Given the description of an element on the screen output the (x, y) to click on. 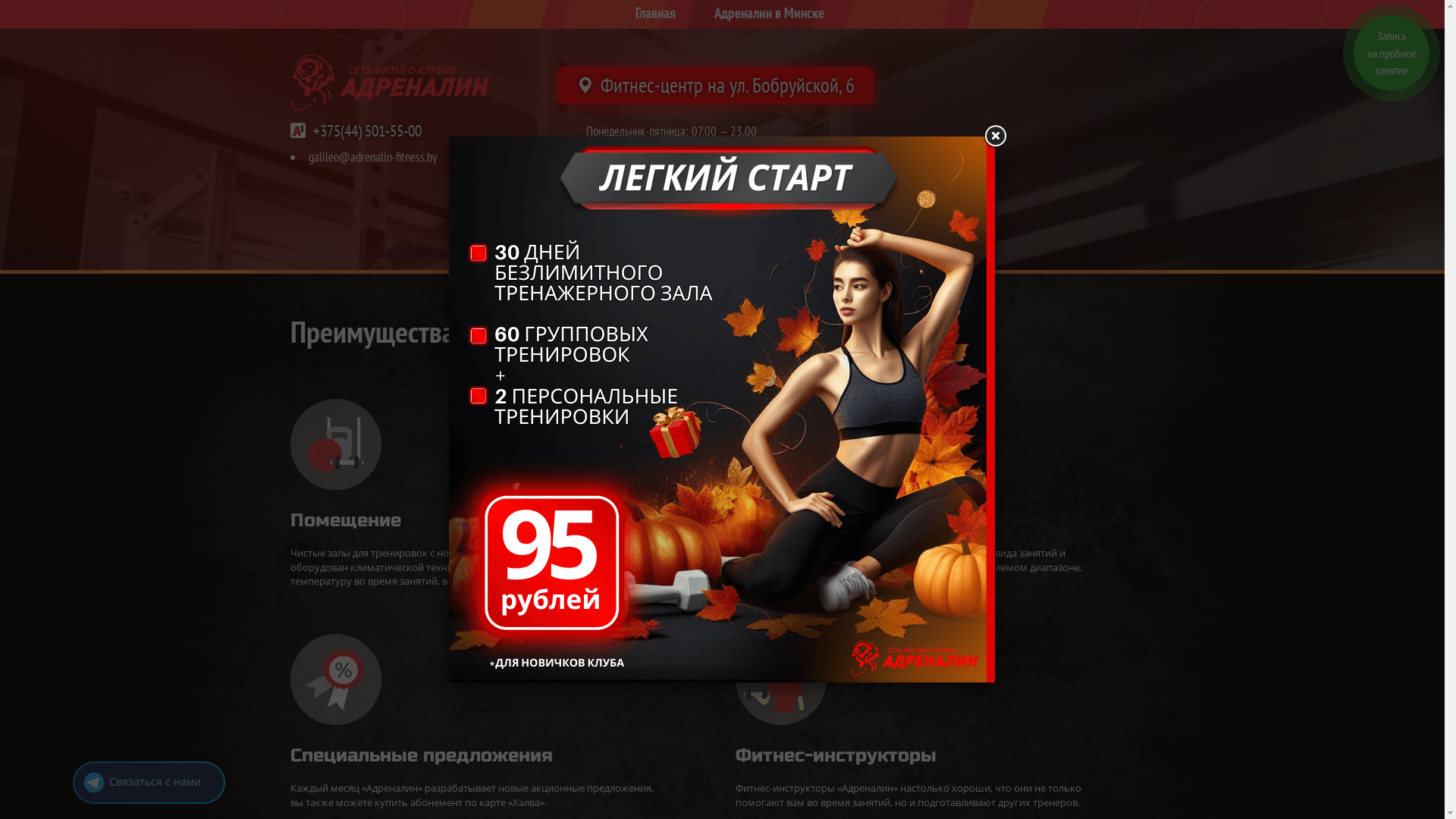
+375(44) 501-55-00 Element type: text (366, 130)
galileo@adrenalin-fitness.by Element type: text (371, 156)
Close Element type: hover (994, 136)
